Given the description of an element on the screen output the (x, y) to click on. 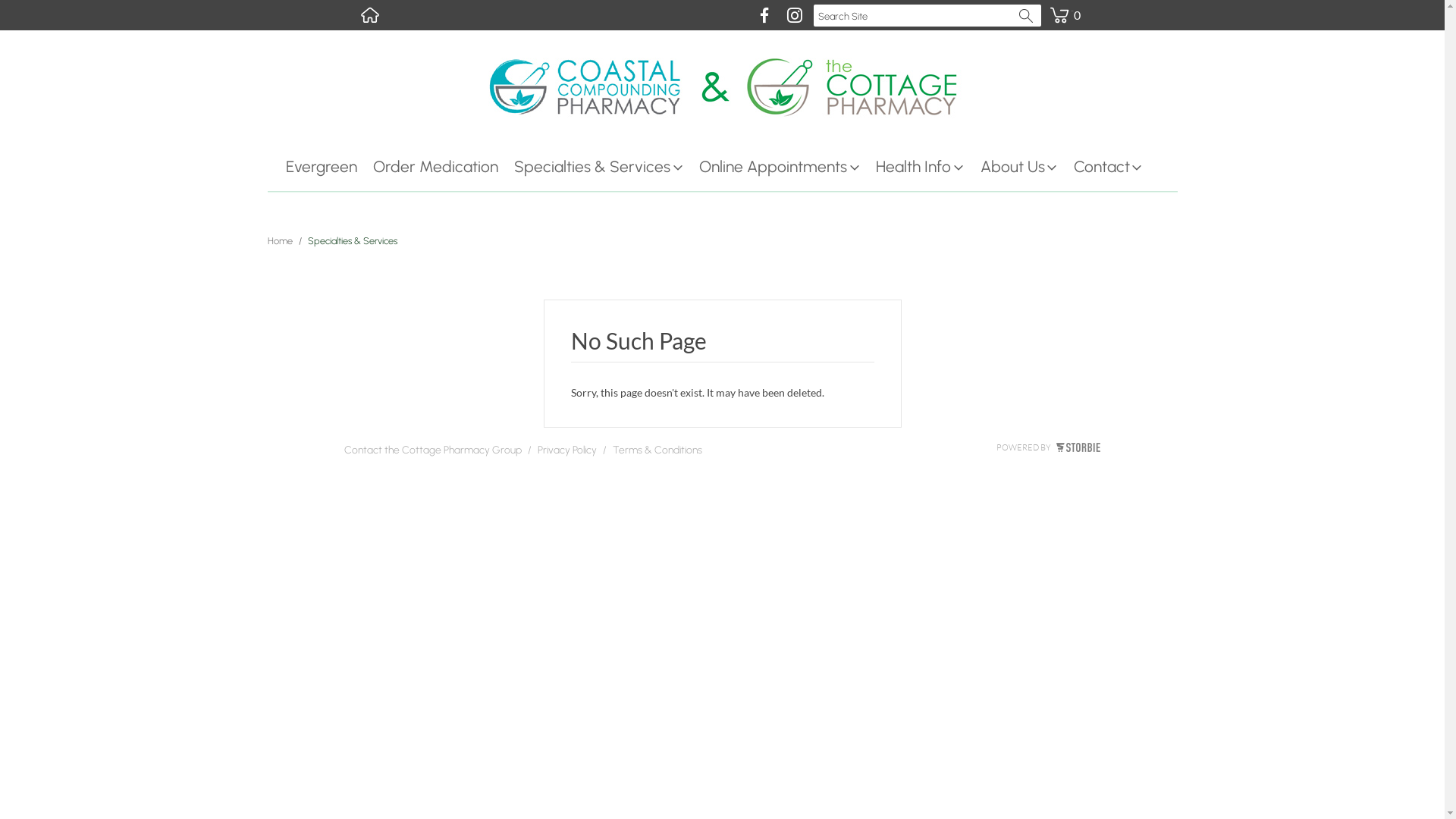
  Element type: text (368, 15)
Health Info Element type: text (927, 165)
Online Appointments Element type: text (787, 165)
Specialties & Services Element type: text (606, 165)
POWERED BY Element type: text (1048, 447)
Specialties & Services Element type: text (352, 240)
Facebook Element type: hover (764, 15)
Evergreen Element type: text (329, 165)
Home Element type: hover (368, 15)
Home Element type: text (278, 240)
Order Medication Element type: text (443, 165)
About Us Element type: text (1026, 165)
Terms & Conditions Element type: text (657, 453)
Privacy Policy Element type: text (566, 453)
Contact Element type: text (1115, 165)
  0 Element type: text (1063, 6)
Instagram Element type: hover (794, 15)
Contact the Cottage Pharmacy Group Element type: text (432, 453)
